Given the description of an element on the screen output the (x, y) to click on. 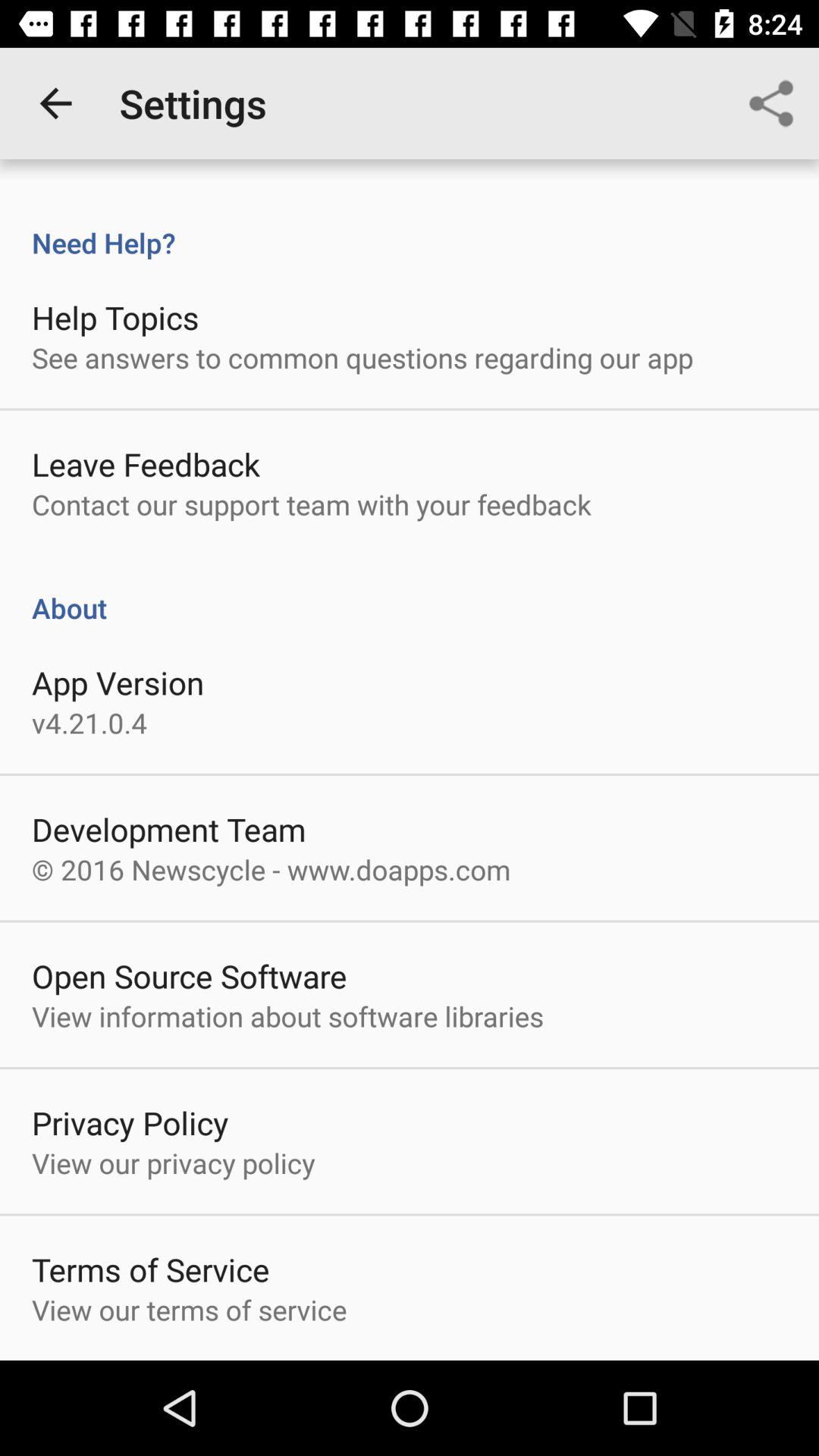
tap the icon to the left of the settings (55, 103)
